Given the description of an element on the screen output the (x, y) to click on. 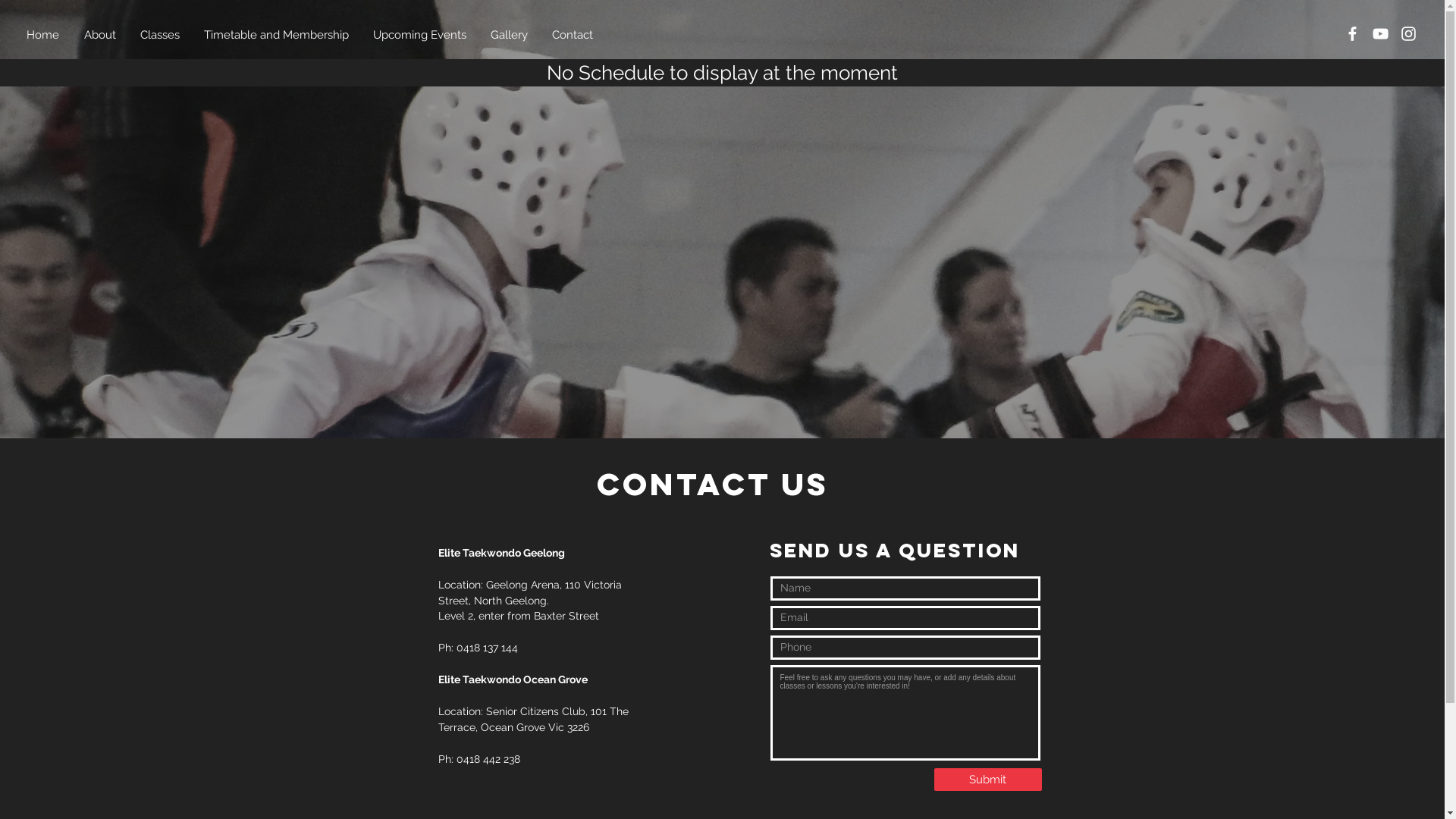
Gallery Element type: text (509, 34)
Timetable and Membership Element type: text (276, 34)
About Element type: text (100, 34)
Classes Element type: text (160, 34)
Upcoming Events Element type: text (420, 34)
Contact Element type: text (572, 34)
Submit Element type: text (987, 779)
Home Element type: text (43, 34)
